Given the description of an element on the screen output the (x, y) to click on. 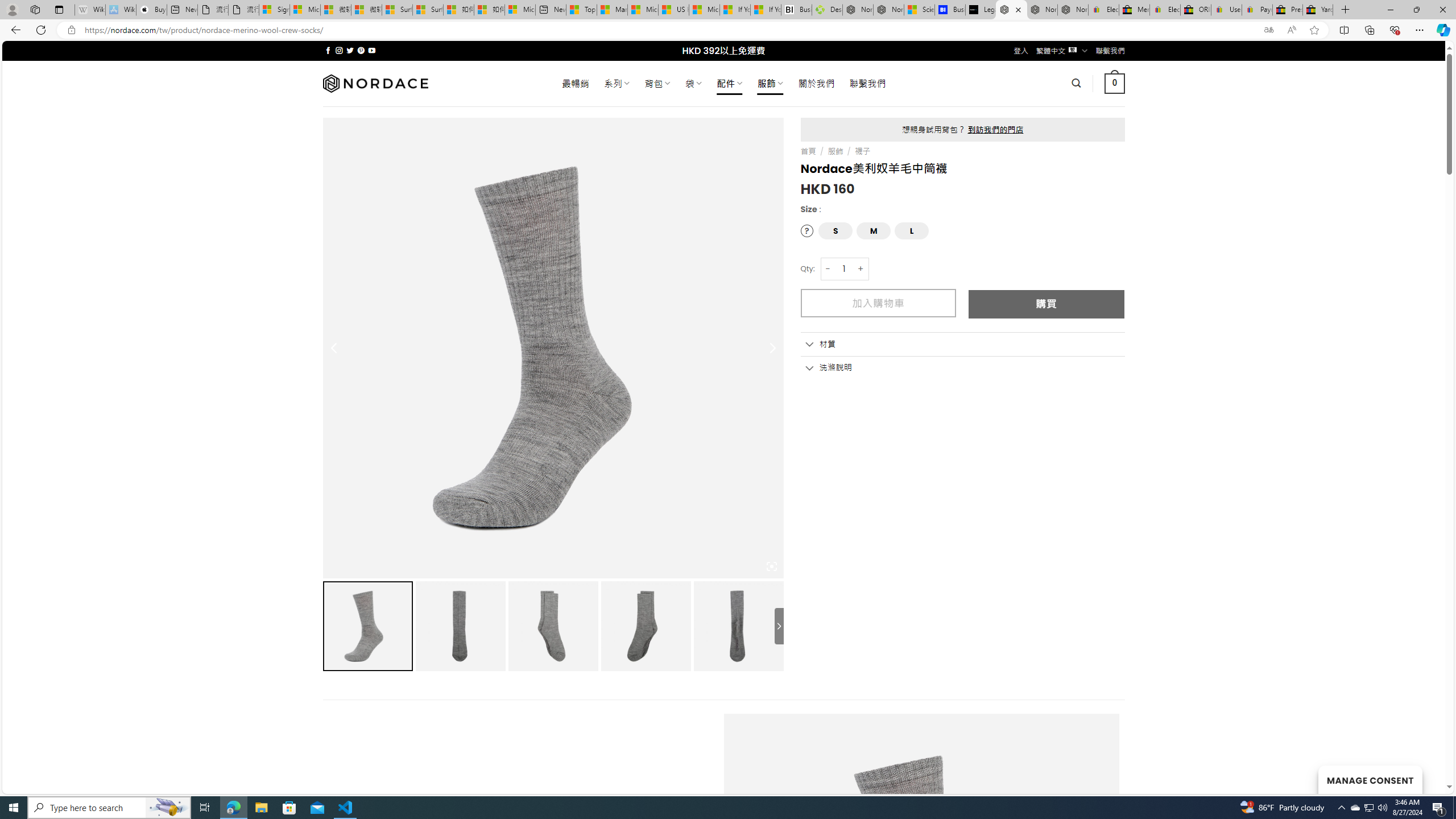
Show translate options (1268, 29)
Follow on Facebook (327, 50)
Microsoft account | Account Checkup (519, 9)
  0   (1115, 83)
